Given the description of an element on the screen output the (x, y) to click on. 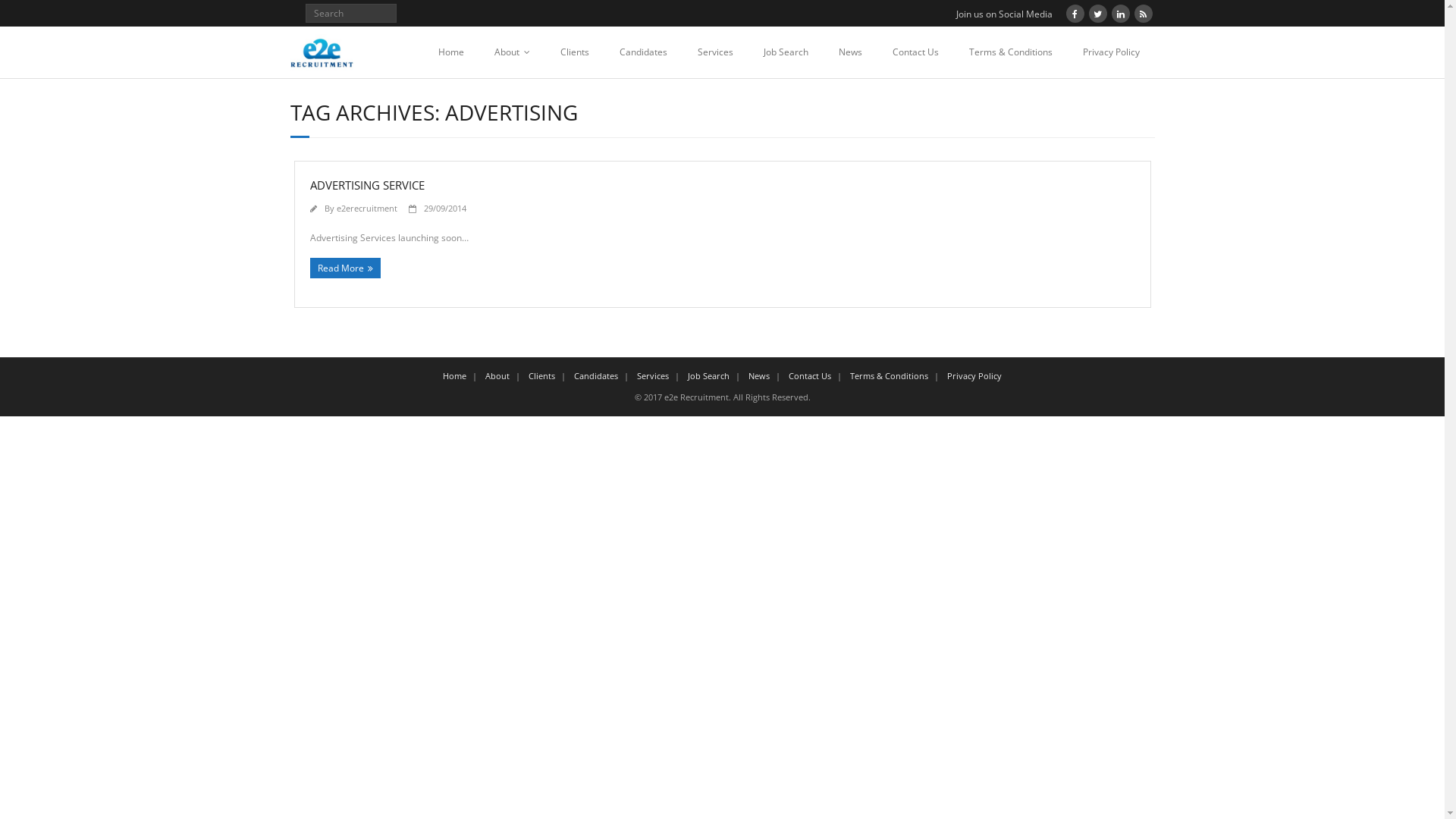
e2erecruitment Element type: text (366, 207)
Clients Element type: text (541, 375)
Job Search Element type: text (708, 375)
Services Element type: text (715, 52)
Home Element type: text (454, 375)
Contact Us Element type: text (809, 375)
Privacy Policy Element type: text (974, 375)
Services Element type: text (652, 375)
Terms & Conditions Element type: text (1010, 52)
ADVERTISING SERVICE Element type: text (366, 184)
Candidates Element type: text (595, 375)
News Element type: text (850, 52)
Read More Element type: text (344, 267)
Privacy Policy Element type: text (1110, 52)
About Element type: text (512, 52)
News Element type: text (758, 375)
Search Element type: text (26, 14)
Terms & Conditions Element type: text (889, 375)
Contact Us Element type: text (914, 52)
Candidates Element type: text (642, 52)
29/09/2014 Element type: text (444, 207)
About Element type: text (497, 375)
Clients Element type: text (573, 52)
Home Element type: text (451, 52)
Job Search Element type: text (784, 52)
